Given the description of an element on the screen output the (x, y) to click on. 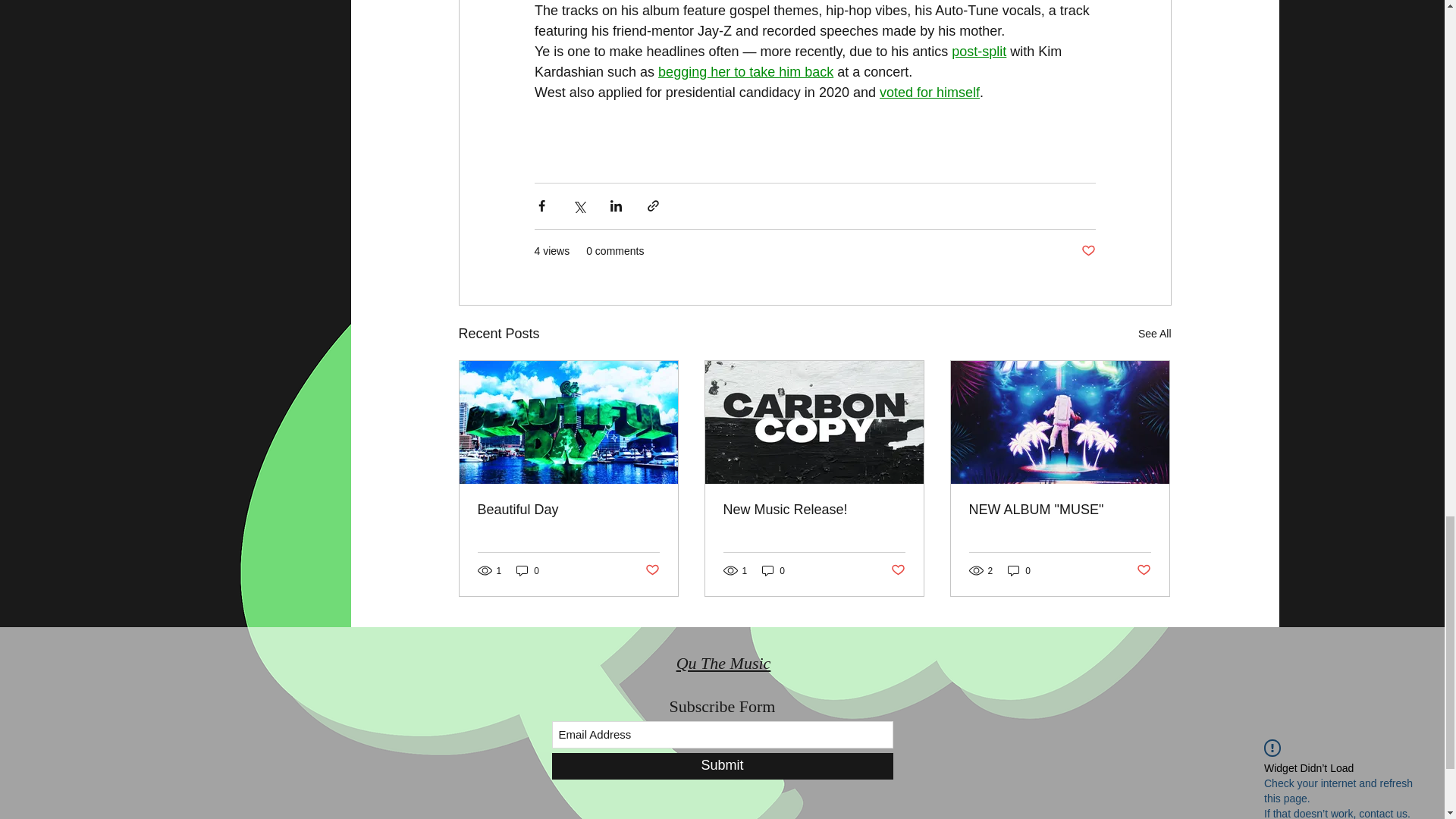
begging her to take him back (745, 72)
post-split (979, 51)
Beautiful Day (568, 509)
voted for himself (928, 92)
Post not marked as liked (1088, 250)
See All (1155, 333)
